Given the description of an element on the screen output the (x, y) to click on. 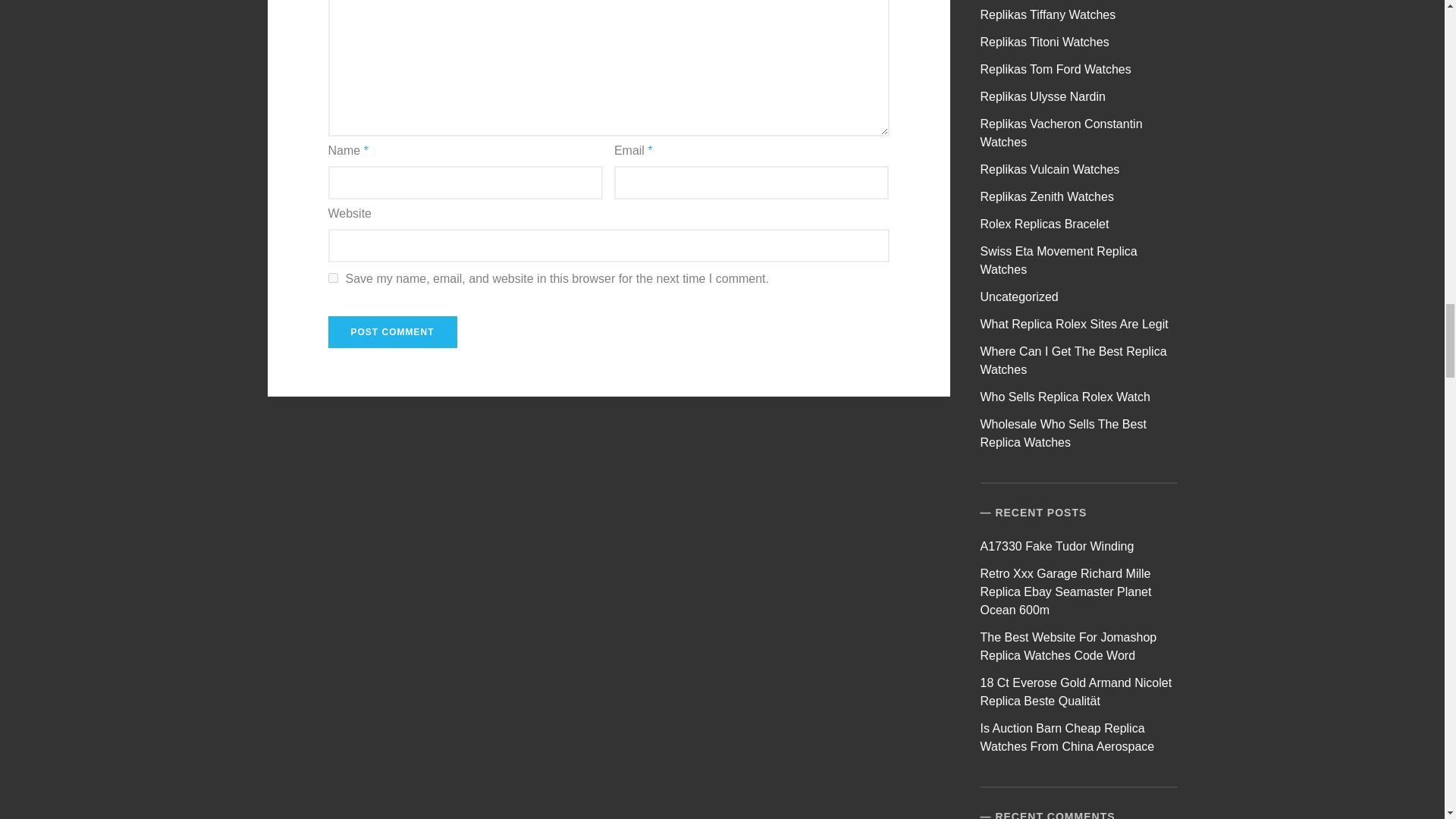
Post Comment (392, 332)
yes (332, 277)
Post Comment (392, 332)
